Given the description of an element on the screen output the (x, y) to click on. 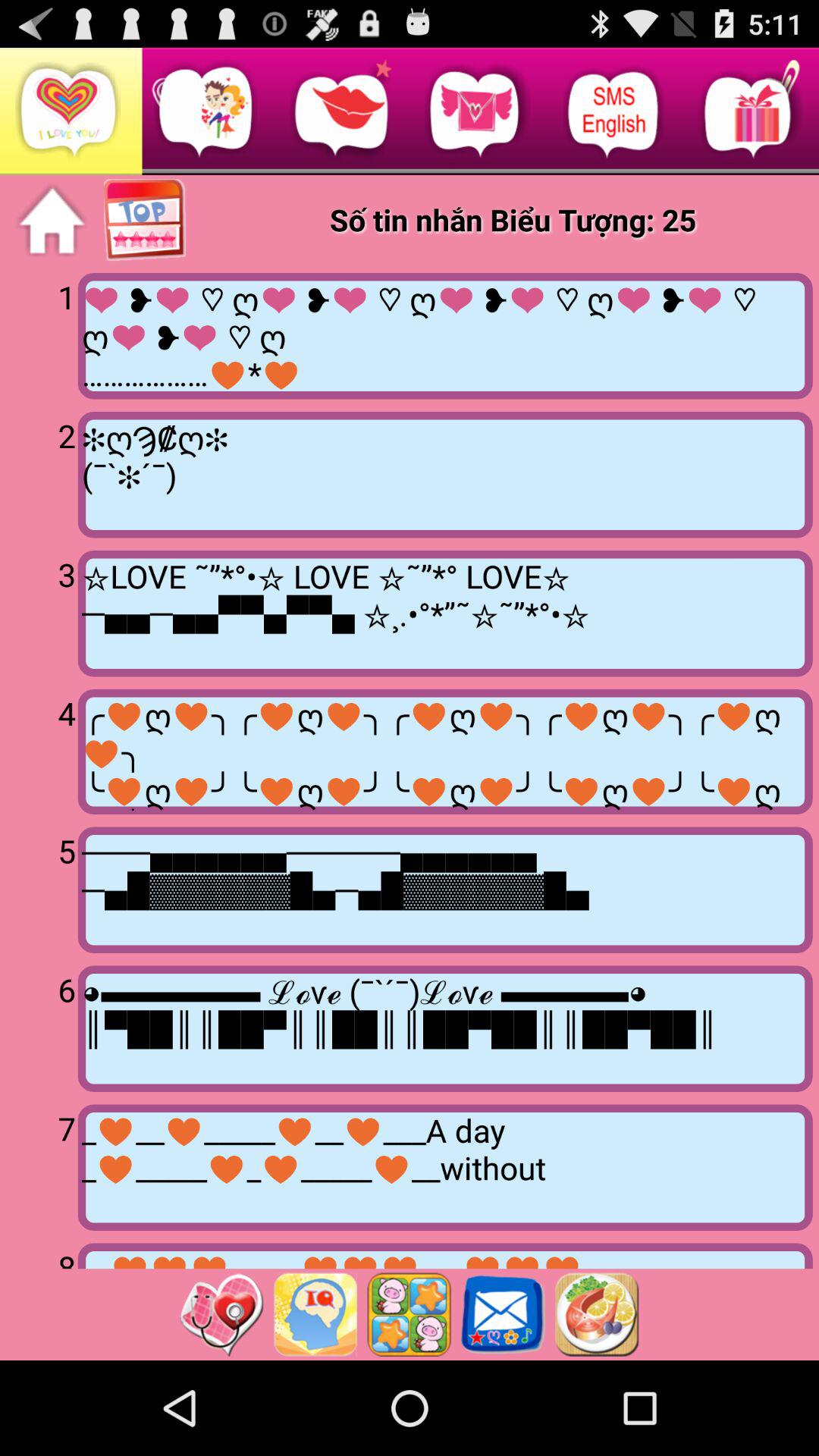
turn off the item above the 2 icon (41, 334)
